Given the description of an element on the screen output the (x, y) to click on. 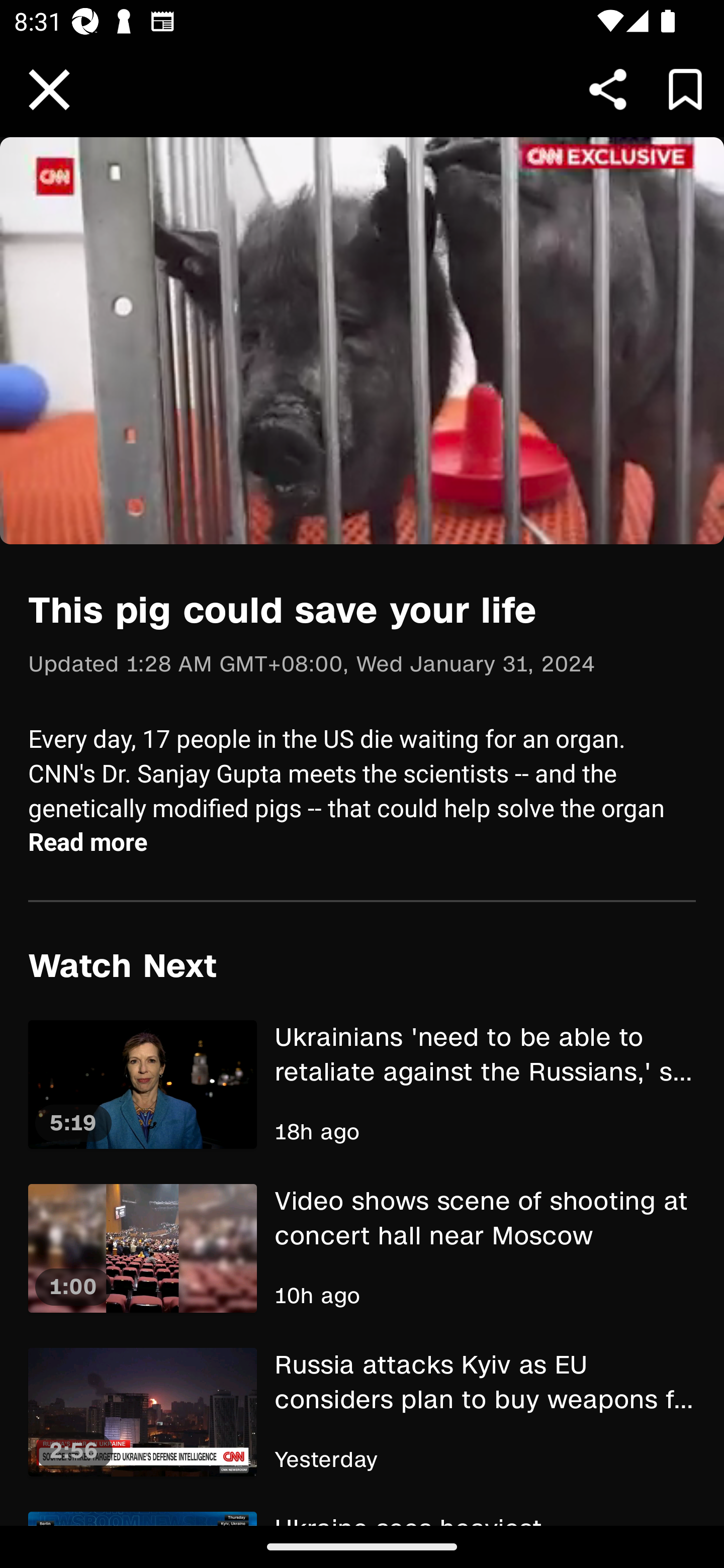
Close (48, 89)
Share (607, 89)
Bookmark (685, 89)
